Given the description of an element on the screen output the (x, y) to click on. 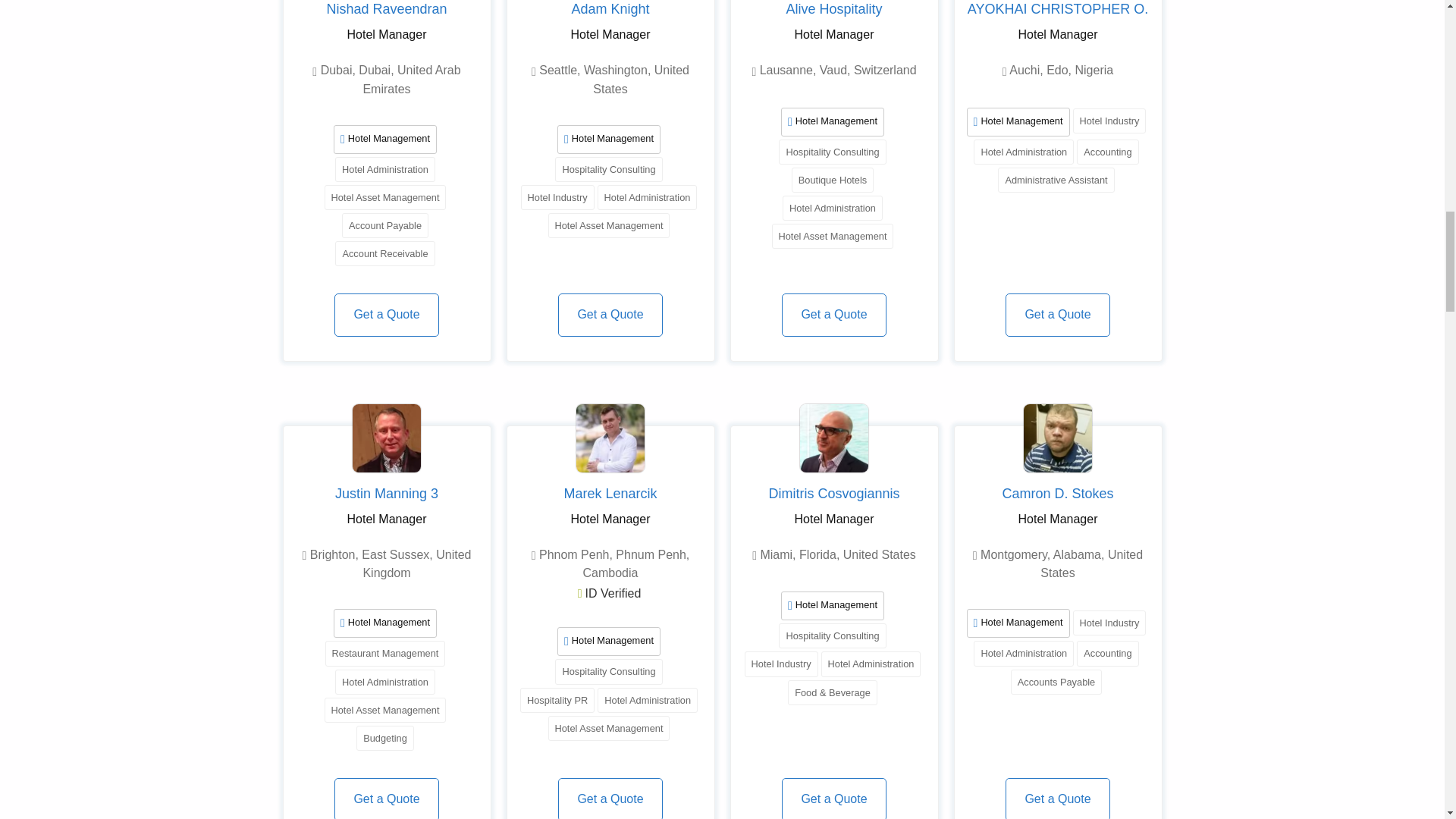
View Service Offered By Dimitris Cosvogiannis  (833, 438)
View Service Offered By Justin Manning 3  (386, 438)
View Service Offered By Camron D. Stokes  (1057, 438)
View Service Offered By Marek Lenarcik  (610, 438)
